Given the description of an element on the screen output the (x, y) to click on. 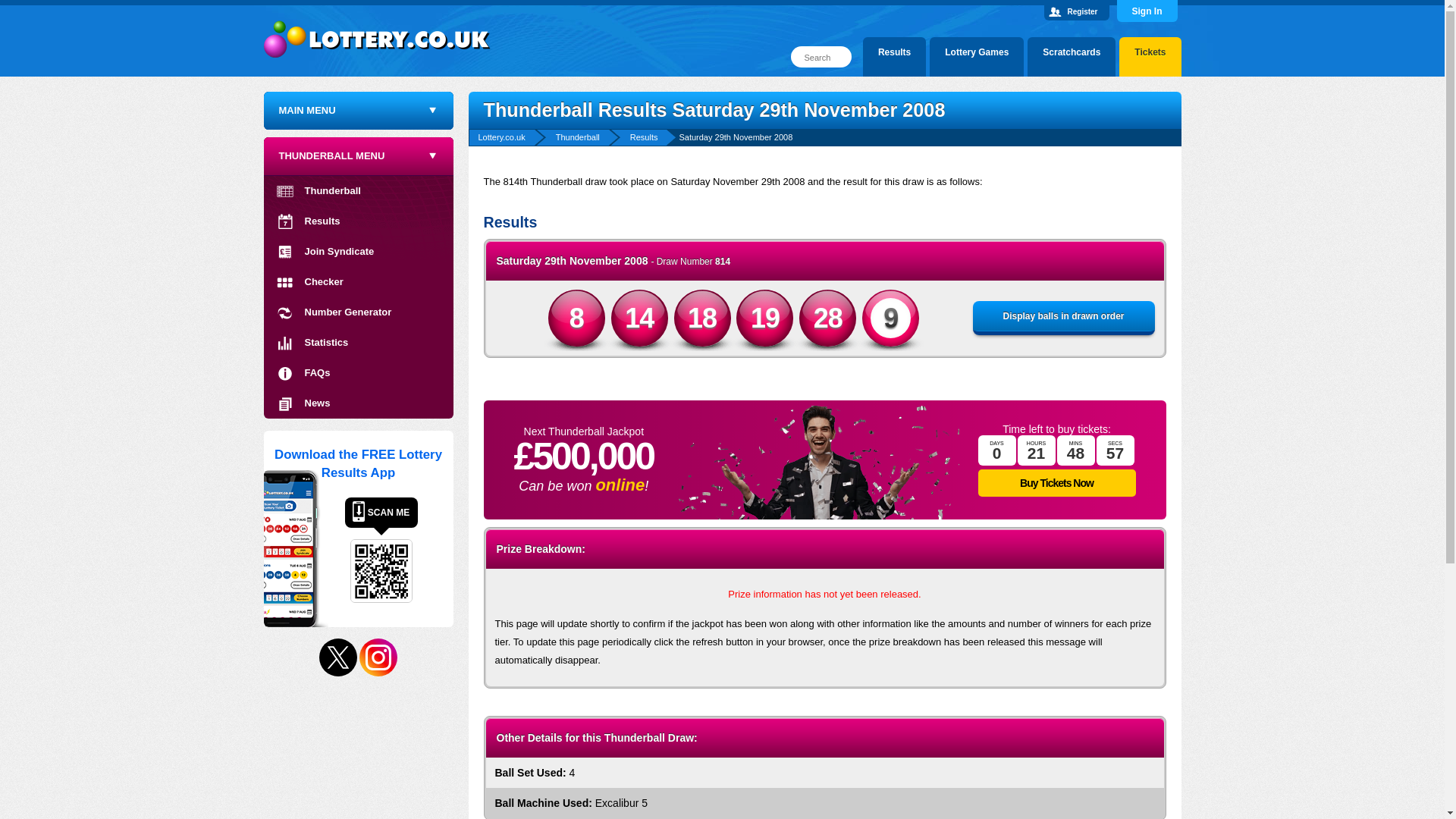
Results (894, 59)
View the latest lottery results (894, 59)
Lottery Games (976, 59)
Scratchcards (1071, 59)
Register (1082, 11)
Buy Lottery Tickets Online (1149, 59)
Tickets (1149, 59)
Lottery (377, 32)
Create a free Lottery.co.uk account (1082, 11)
Play Scratchcards Online (1071, 59)
Sign In (1146, 11)
Lottery Games (976, 59)
